Given the description of an element on the screen output the (x, y) to click on. 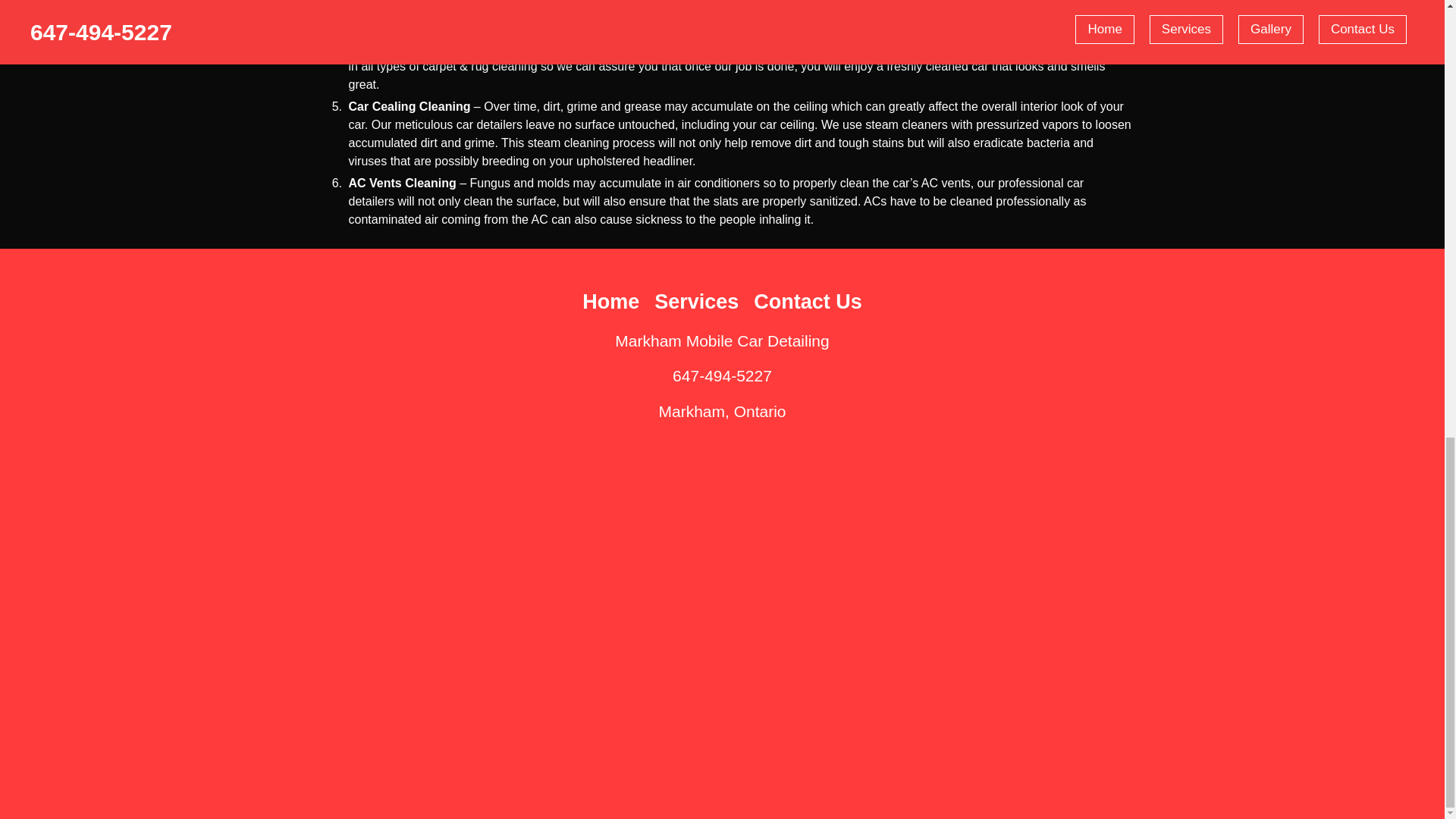
647-494-5227 (721, 375)
Home (610, 301)
Contact Us (807, 301)
Services (695, 301)
